Given the description of an element on the screen output the (x, y) to click on. 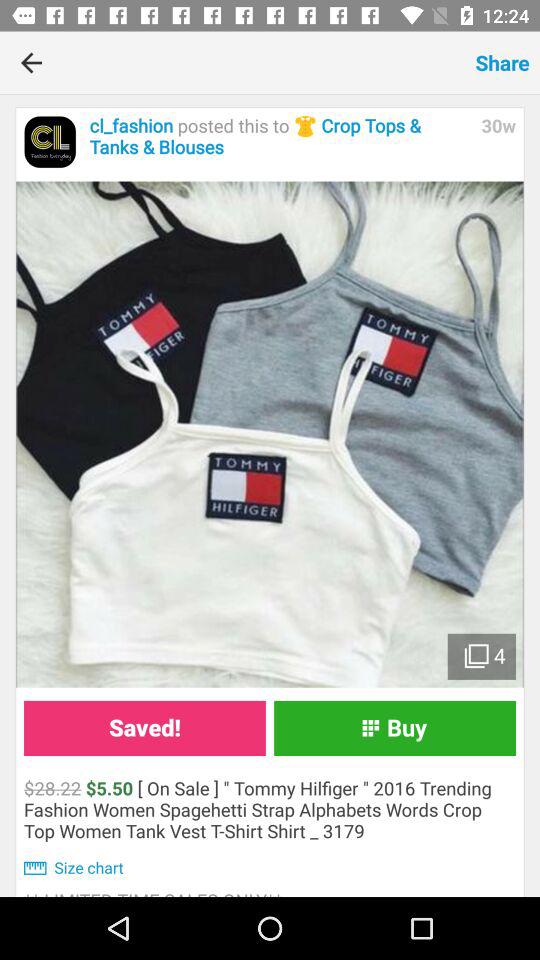
press icon to the left of the 30w (280, 136)
